Given the description of an element on the screen output the (x, y) to click on. 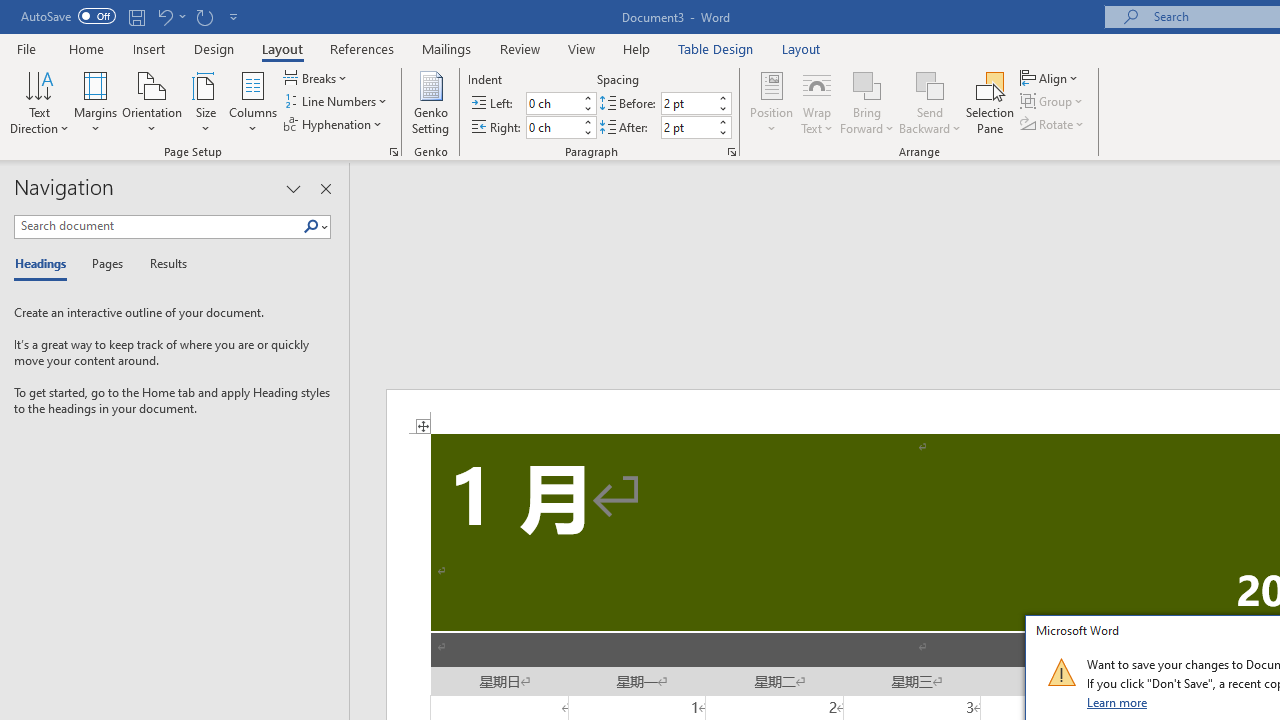
Search document (157, 226)
Line Numbers (337, 101)
Results (161, 264)
Breaks (317, 78)
References (362, 48)
Pages (105, 264)
Task Pane Options (293, 188)
Bring Forward (867, 102)
Indent Left (552, 103)
Size (205, 102)
Align (1051, 78)
File Tab (26, 48)
AutoSave (68, 16)
